Given the description of an element on the screen output the (x, y) to click on. 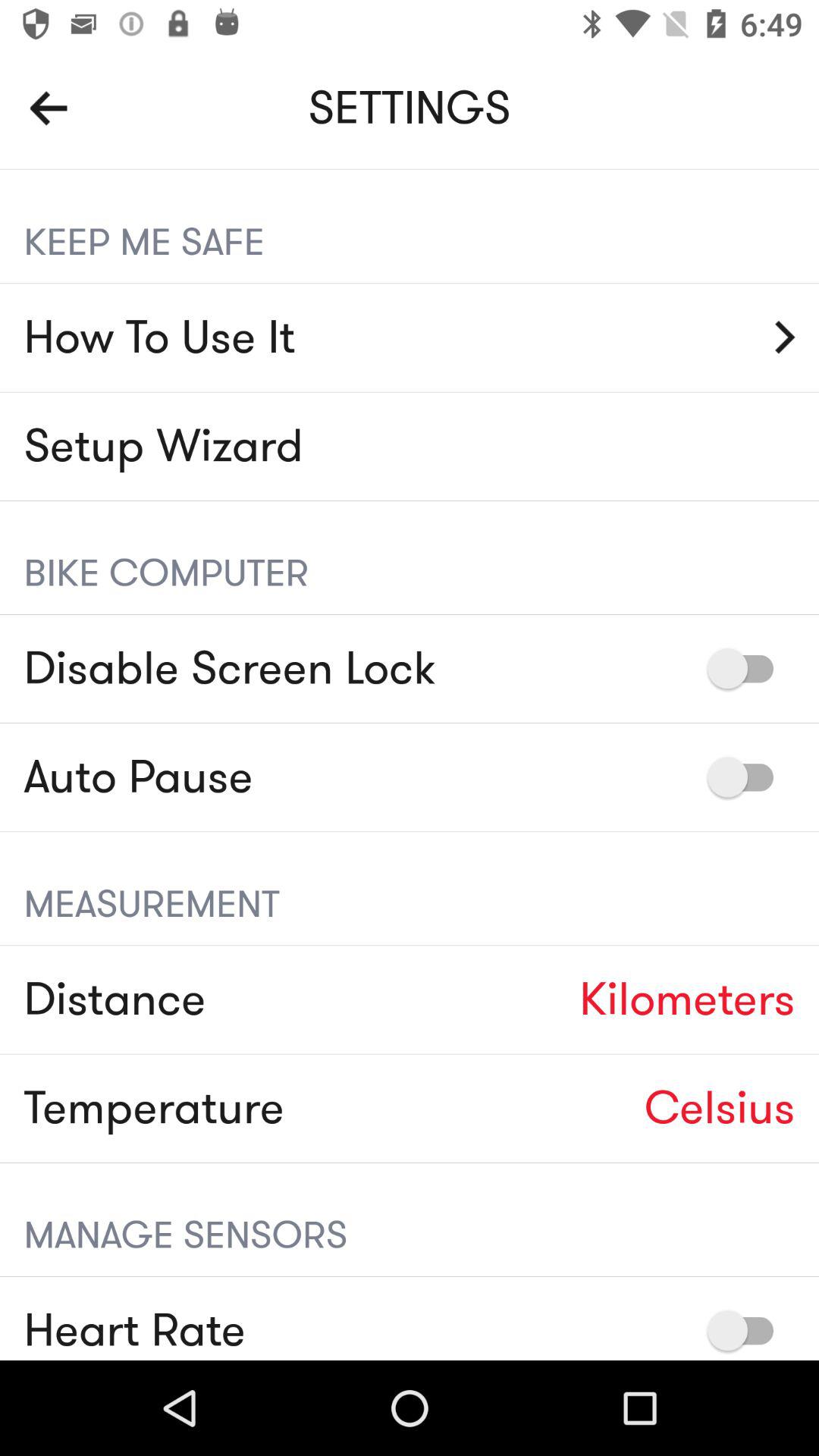
disable or enable (747, 668)
